Given the description of an element on the screen output the (x, y) to click on. 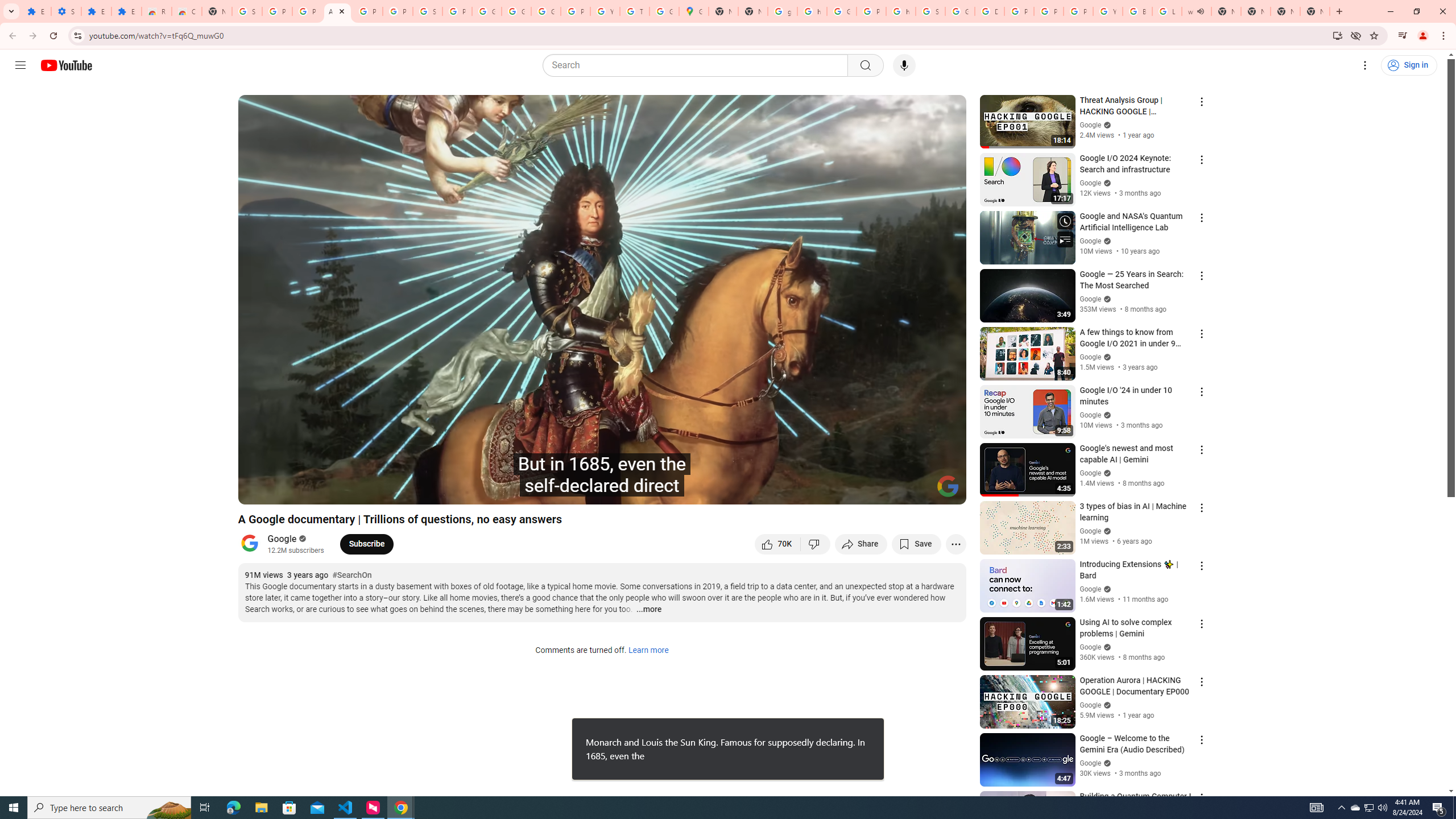
Google Account (515, 11)
like this video along with 70,975 other people (777, 543)
Chrome Web Store - Themes (185, 11)
Google Maps (693, 11)
Mute (m) (312, 490)
Search (697, 65)
Sign in - Google Accounts (930, 11)
